Given the description of an element on the screen output the (x, y) to click on. 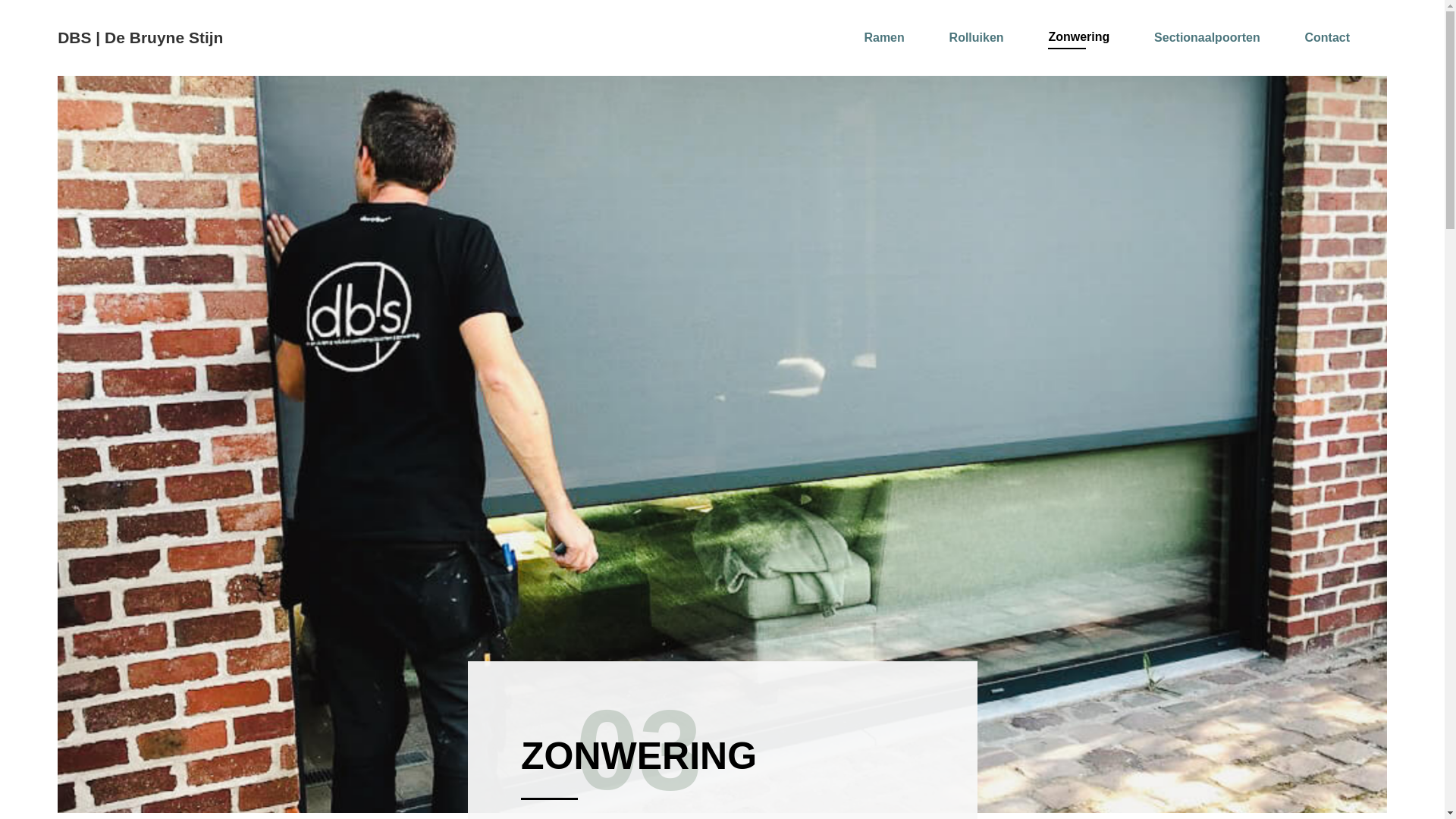
Contact Element type: text (1330, 37)
Rolluiken Element type: text (980, 37)
Zonwering Element type: text (1082, 36)
DBS | De Bruyne Stijn Element type: text (139, 37)
Ramen Element type: text (887, 37)
Sectionaalpoorten Element type: text (1210, 37)
